Given the description of an element on the screen output the (x, y) to click on. 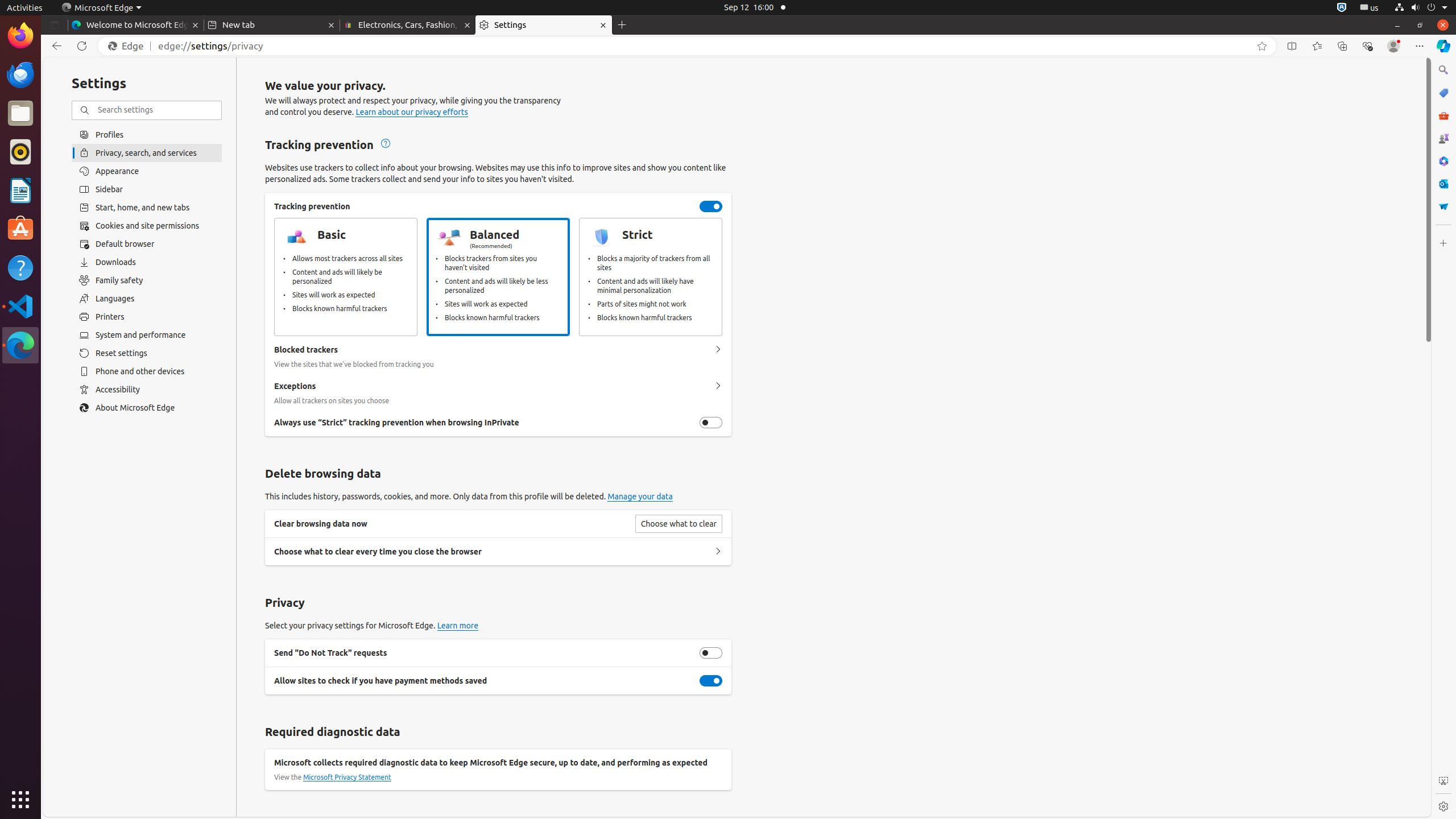
Screenshot Element type: push-button (1443, 780)
Profile 1 Profile, Please sign in Element type: push-button (1392, 46)
Close tab Element type: push-button (195, 25)
Privacy, search, and services Element type: tree-item (146, 152)
:1.21/StatusNotifierItem Element type: menu (1369, 7)
